Given the description of an element on the screen output the (x, y) to click on. 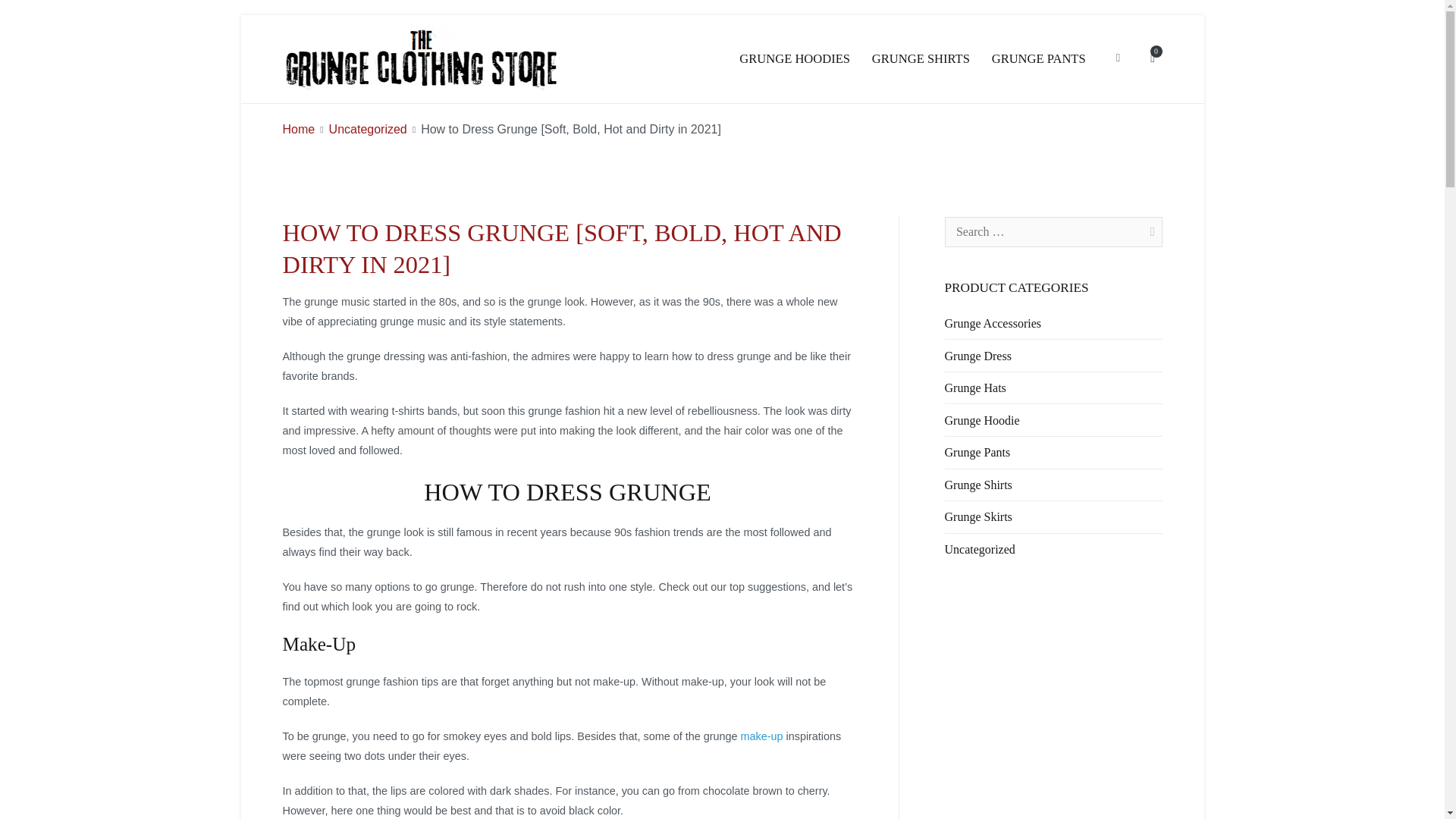
Home (298, 128)
GRUNGE PANTS (1038, 58)
Uncategorized (979, 549)
Grunge Skirts (977, 517)
Grunge Dress (977, 355)
make-up (761, 736)
GRUNGE HOODIES (794, 58)
Grunge Hoodie (982, 419)
Grunge Pants (977, 452)
